Given the description of an element on the screen output the (x, y) to click on. 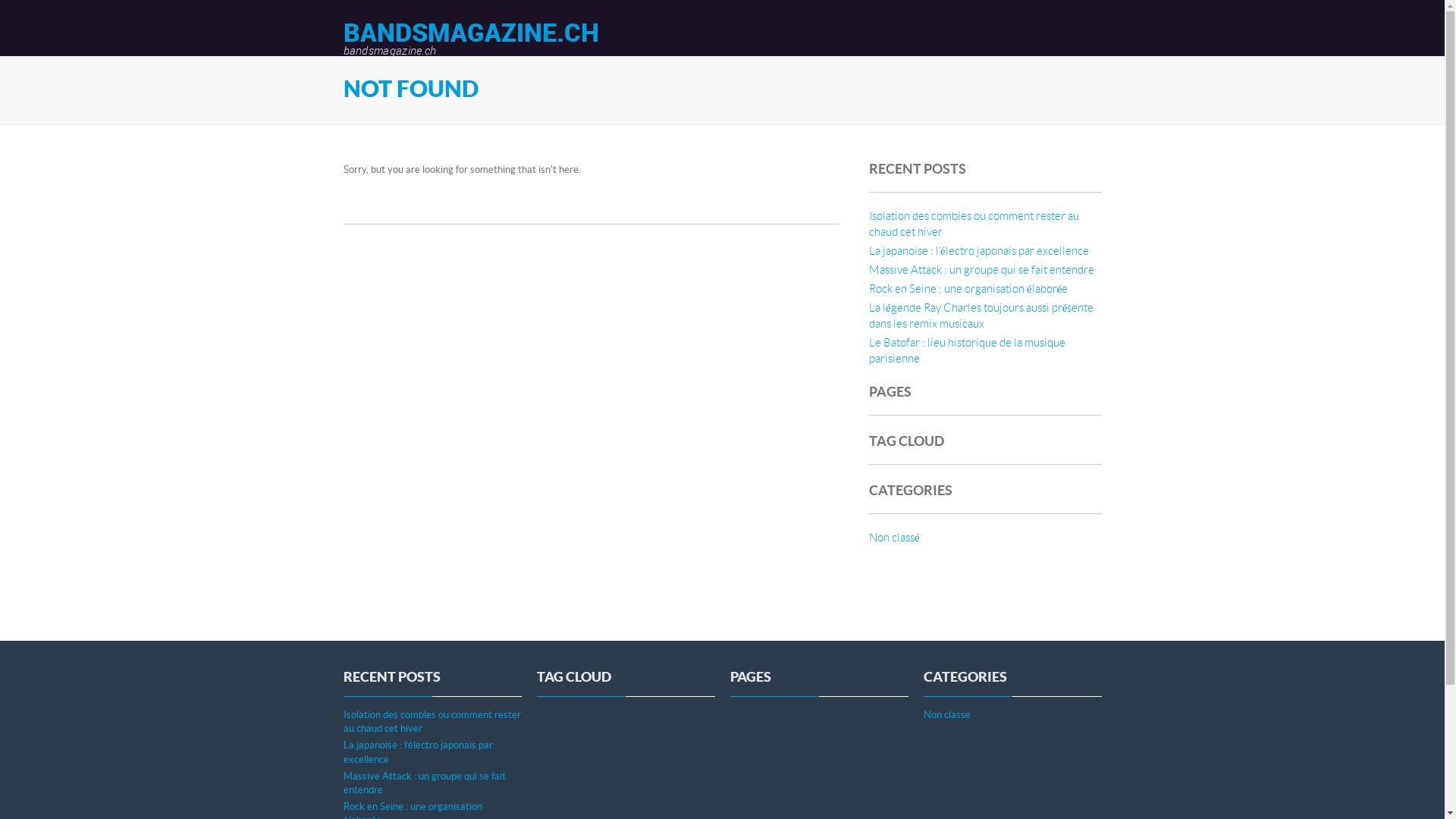
Isolation des combles ou comment rester au chaud cet hiver Element type: text (974, 224)
Massive Attack : un groupe qui se fait entendre Element type: text (981, 270)
Isolation des combles ou comment rester au chaud cet hiver Element type: text (431, 721)
Massive Attack : un groupe qui se fait entendre Element type: text (423, 783)
BANDSMAGAZINE.CH
bandsmagazine.ch Element type: text (470, 37)
Le Batofar : lieu historique de la musique parisienne Element type: text (967, 350)
